Given the description of an element on the screen output the (x, y) to click on. 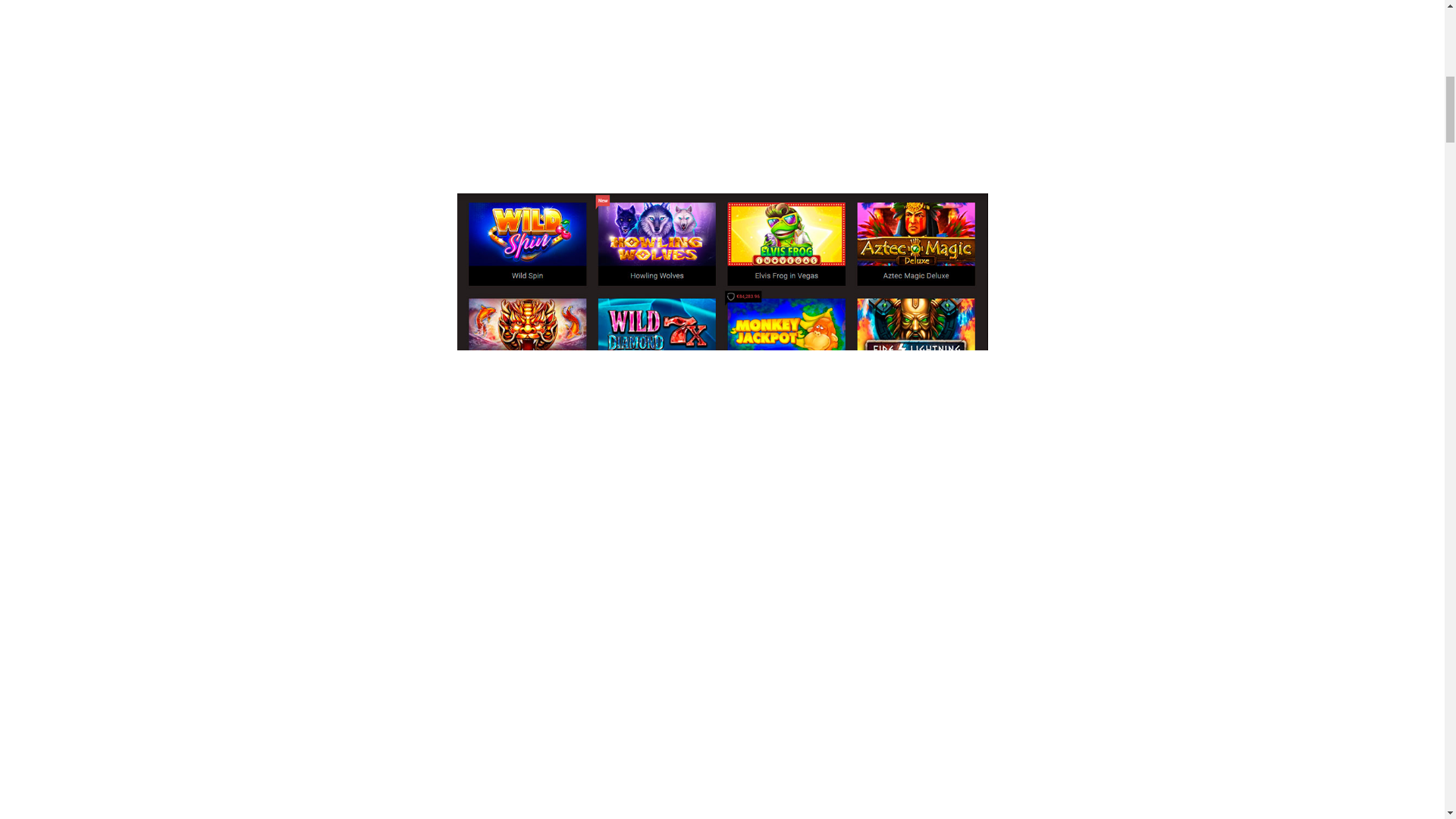
Cyber bingo no deposit bonus (722, 63)
